Given the description of an element on the screen output the (x, y) to click on. 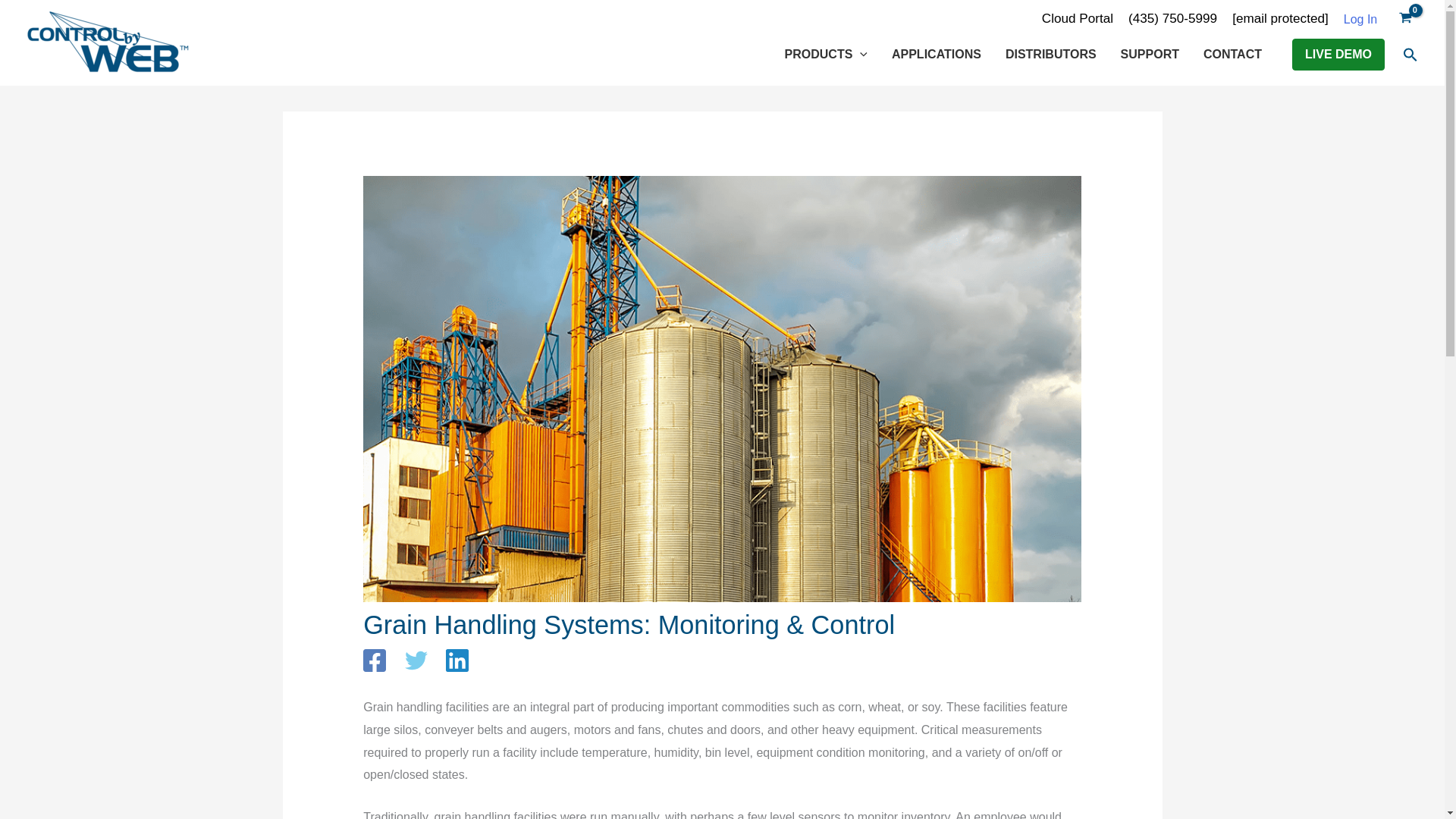
PRODUCTS (826, 54)
Log In (1360, 19)
LIVE DEMO (1338, 54)
DISTRIBUTORS (1050, 54)
Cloud Portal (1077, 17)
CONTACT (1232, 54)
APPLICATIONS (935, 54)
SUPPORT (1149, 54)
